Given the description of an element on the screen output the (x, y) to click on. 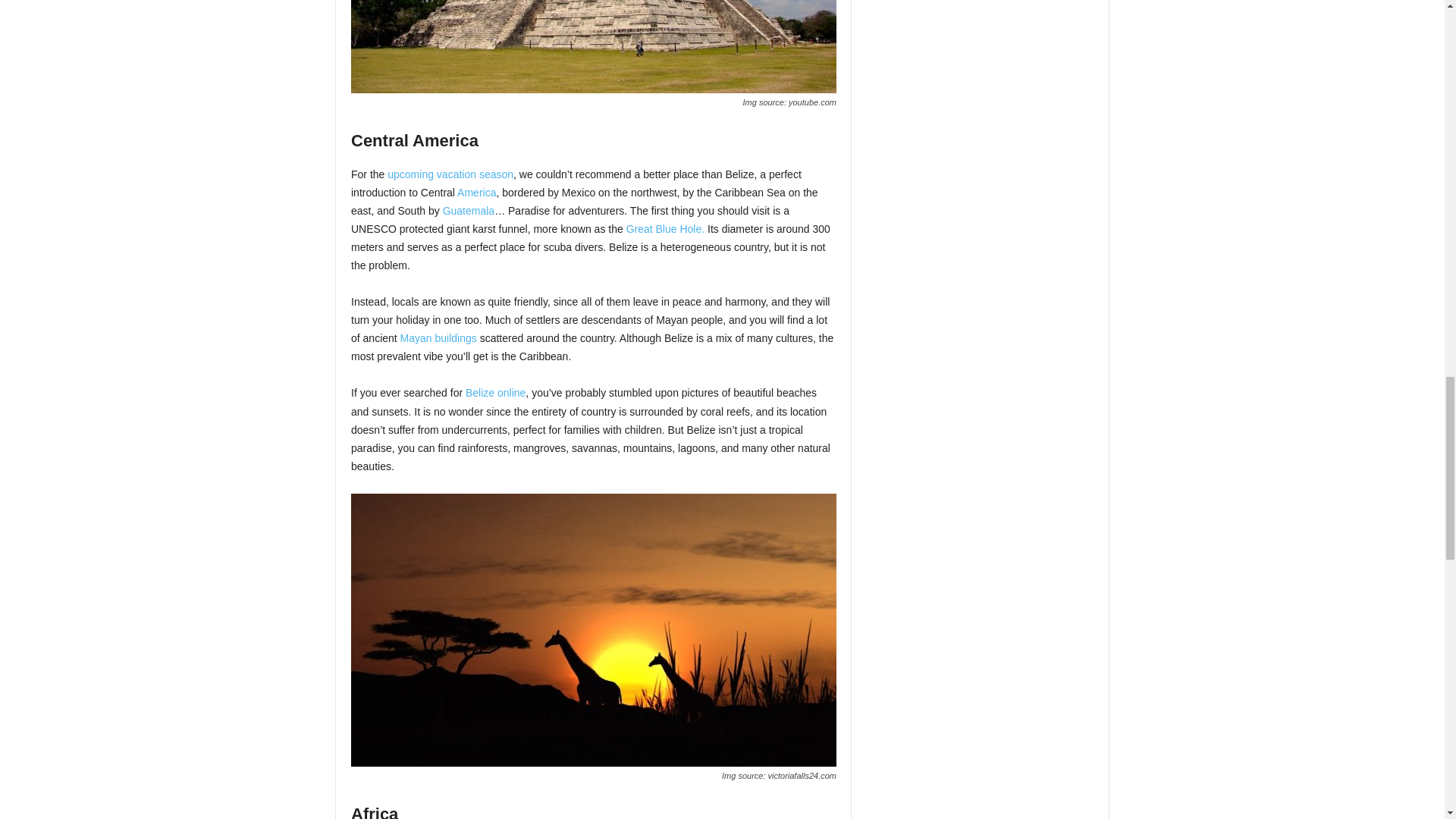
America (476, 192)
upcoming vacation season (450, 174)
Guatemala (468, 210)
Great Blue Hole. (665, 228)
